Given the description of an element on the screen output the (x, y) to click on. 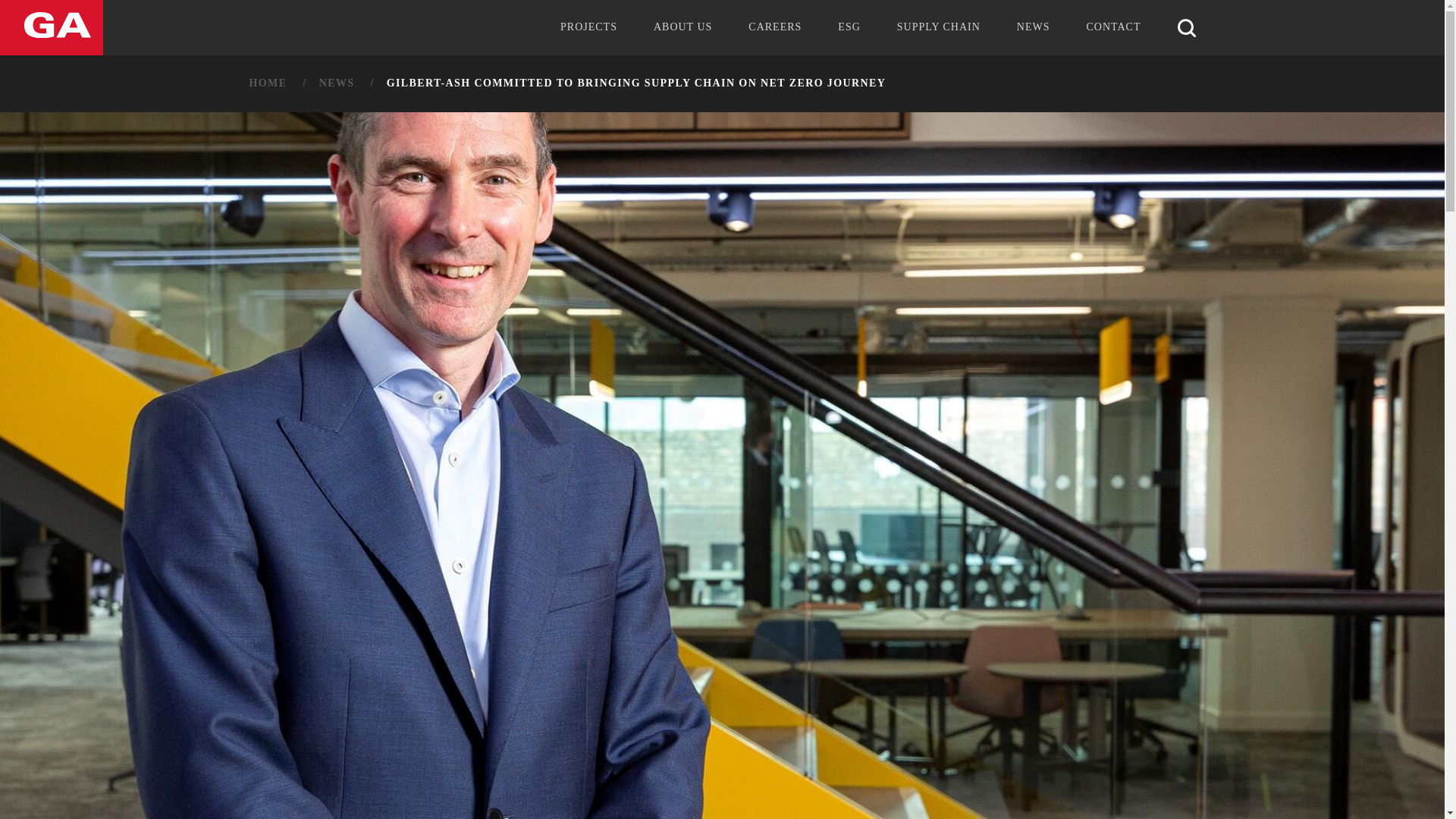
PROJECTS (588, 27)
